Given the description of an element on the screen output the (x, y) to click on. 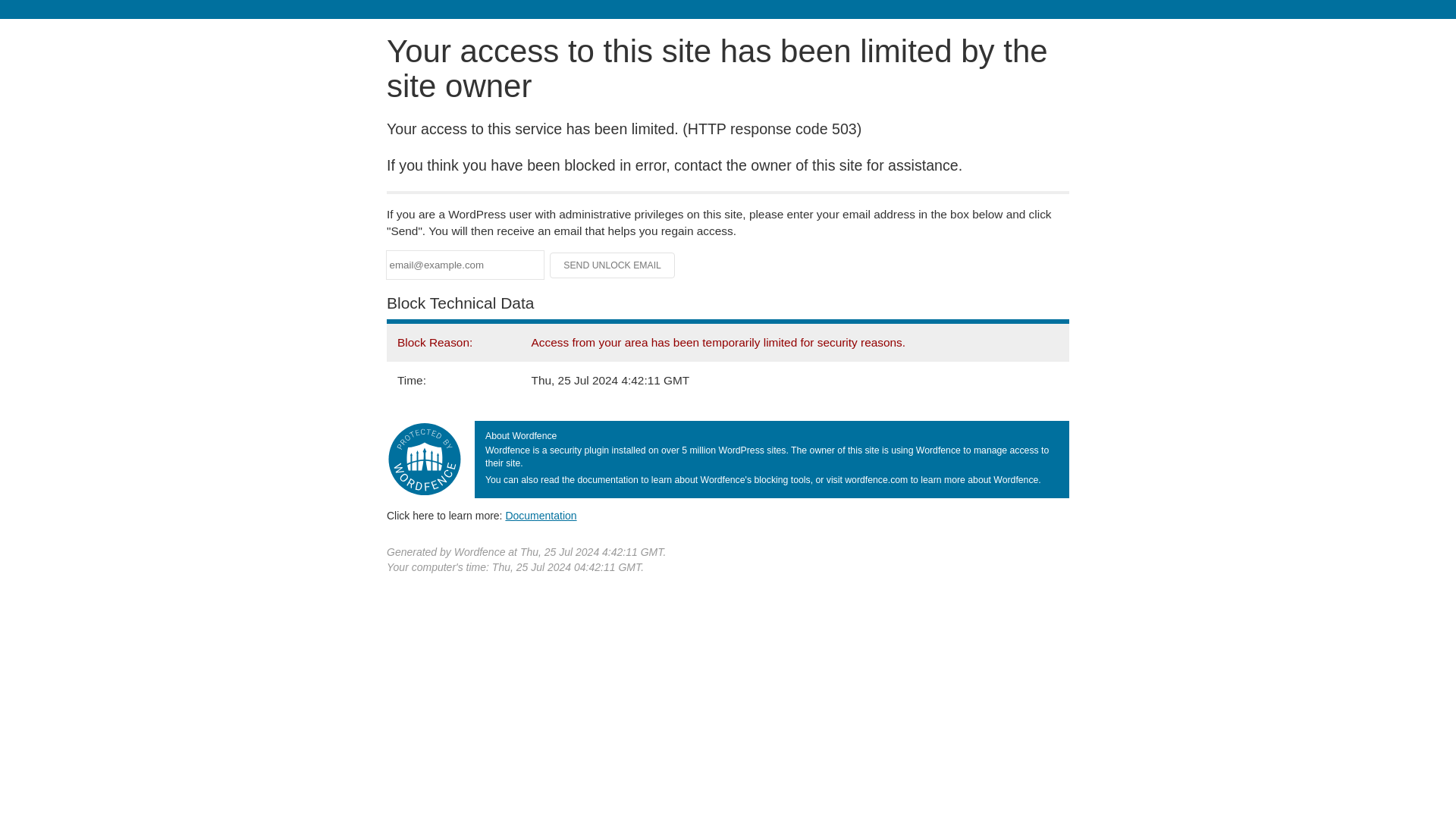
Send Unlock Email (612, 265)
Send Unlock Email (612, 265)
Documentation (540, 515)
